Given the description of an element on the screen output the (x, y) to click on. 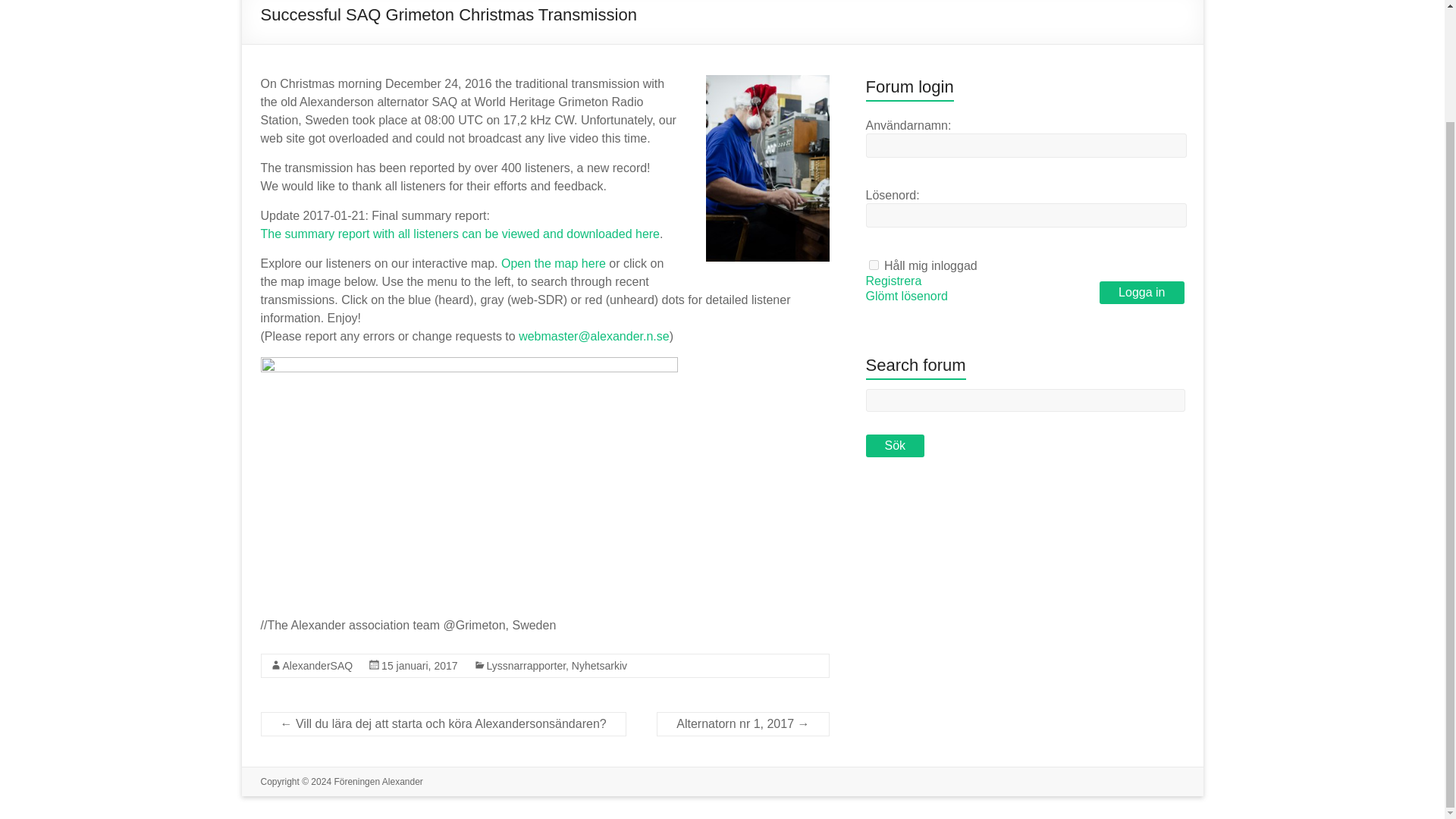
Open the map here (552, 263)
AlexanderSAQ (317, 665)
Registrera (893, 281)
15 januari, 2017 (419, 665)
Logga in (1141, 292)
Lyssnarrapporter (526, 665)
Nyhetsarkiv (599, 665)
Registrera (893, 281)
forever (874, 265)
